Given the description of an element on the screen output the (x, y) to click on. 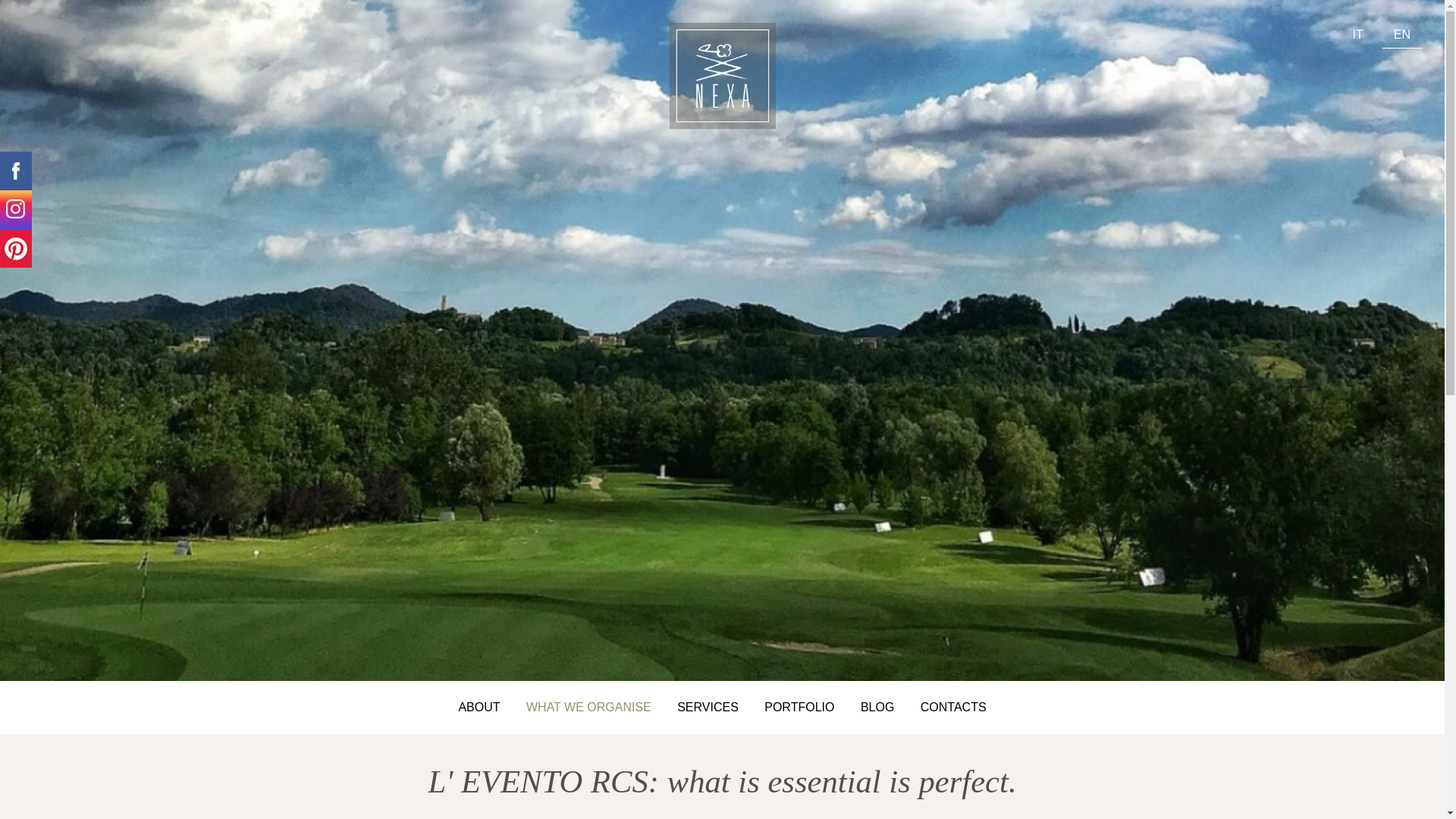
WHAT WE ORGANISE (588, 707)
BLOG (876, 707)
ABOUT (478, 707)
PORTFOLIO (798, 707)
Nexa Venezia (1401, 35)
EN (1401, 35)
Nexa Venezia (1357, 34)
IT (1357, 34)
SERVICES (707, 707)
CONTACTS (952, 707)
